Given the description of an element on the screen output the (x, y) to click on. 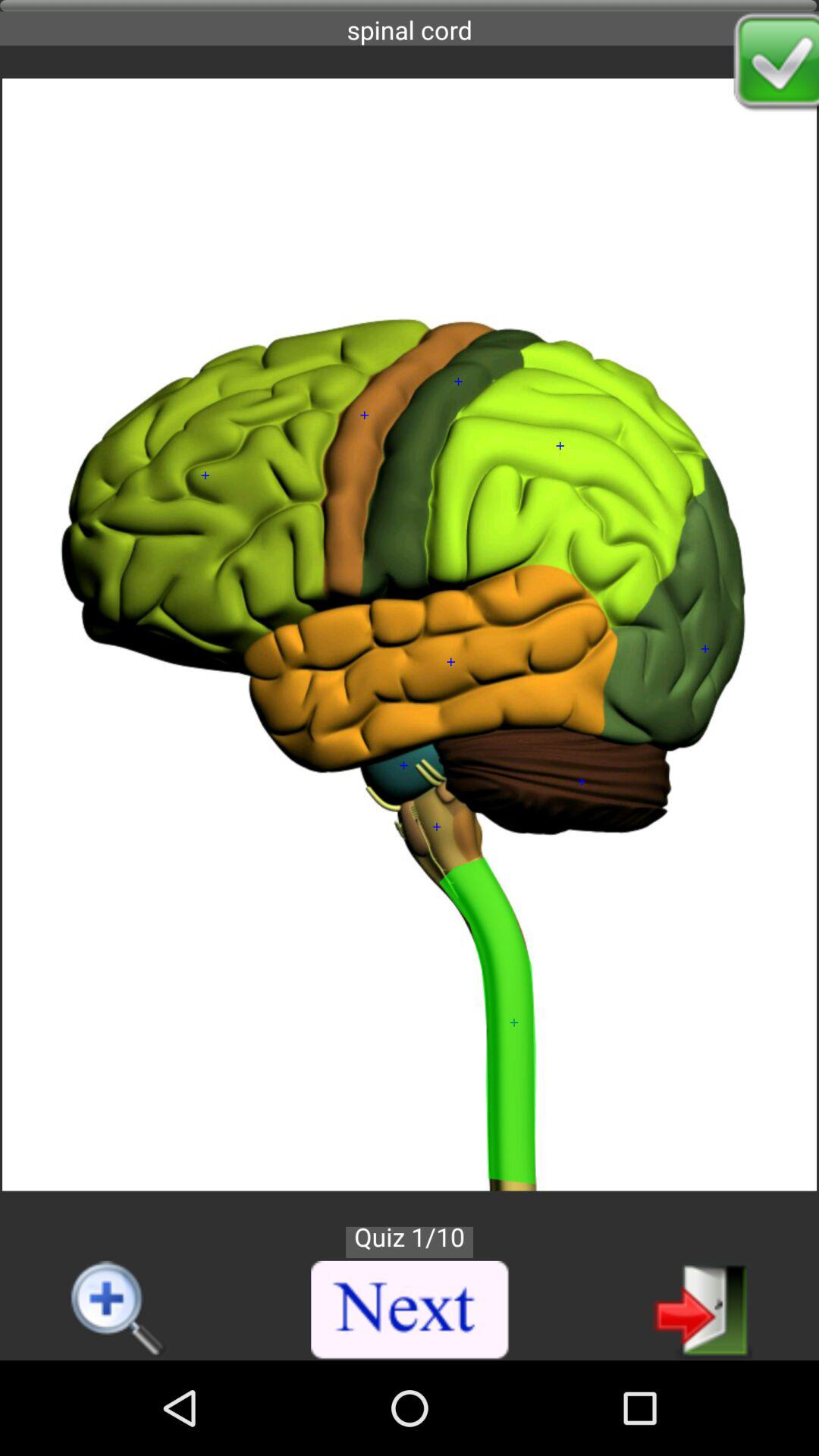
press to next quiz (410, 1310)
